Given the description of an element on the screen output the (x, y) to click on. 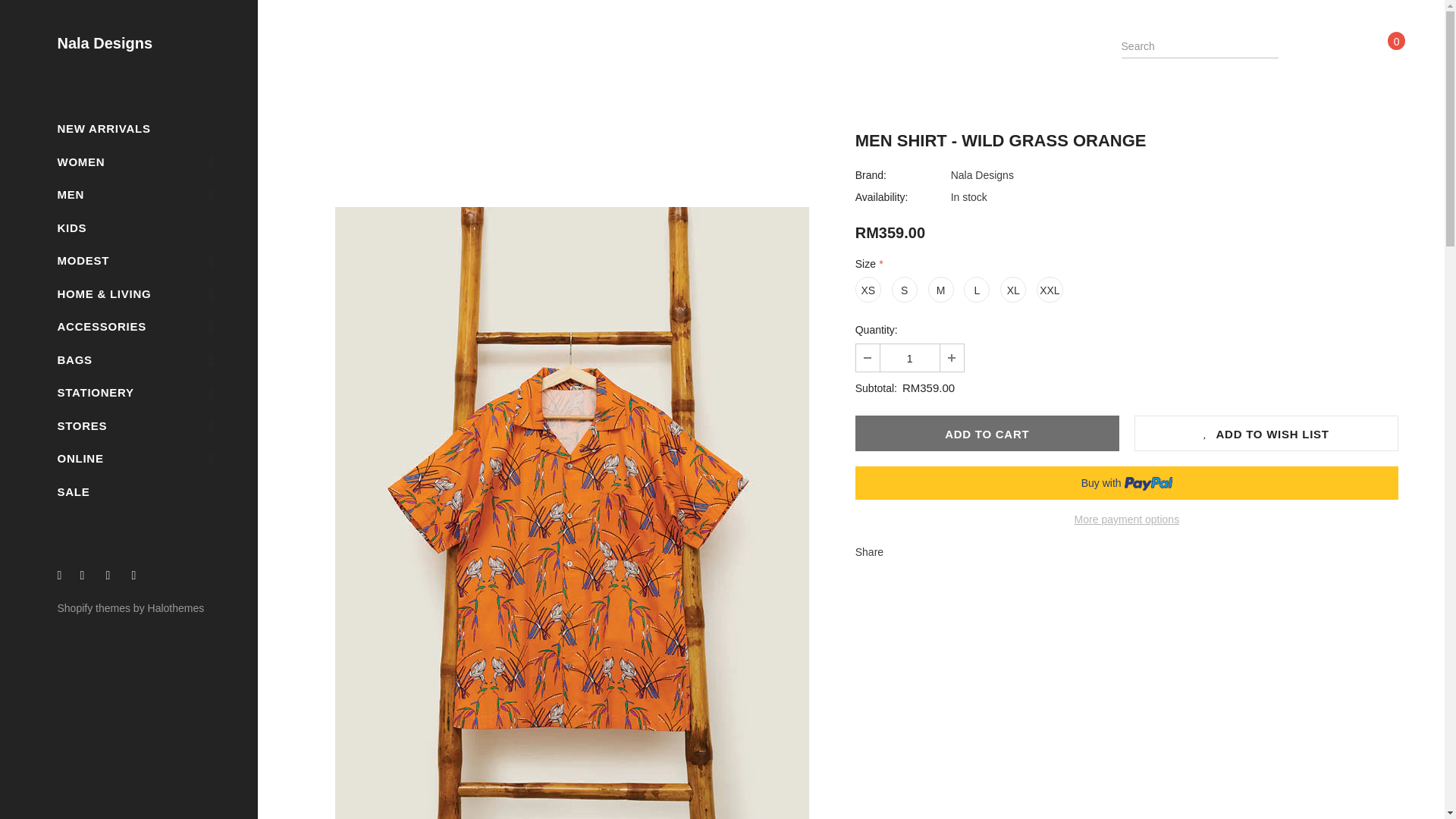
NEW ARRIVALS (102, 127)
Nala Designs (104, 43)
WOMEN (80, 160)
Add to Cart (987, 433)
MEN (70, 193)
1 (909, 357)
0 (1386, 45)
